Given the description of an element on the screen output the (x, y) to click on. 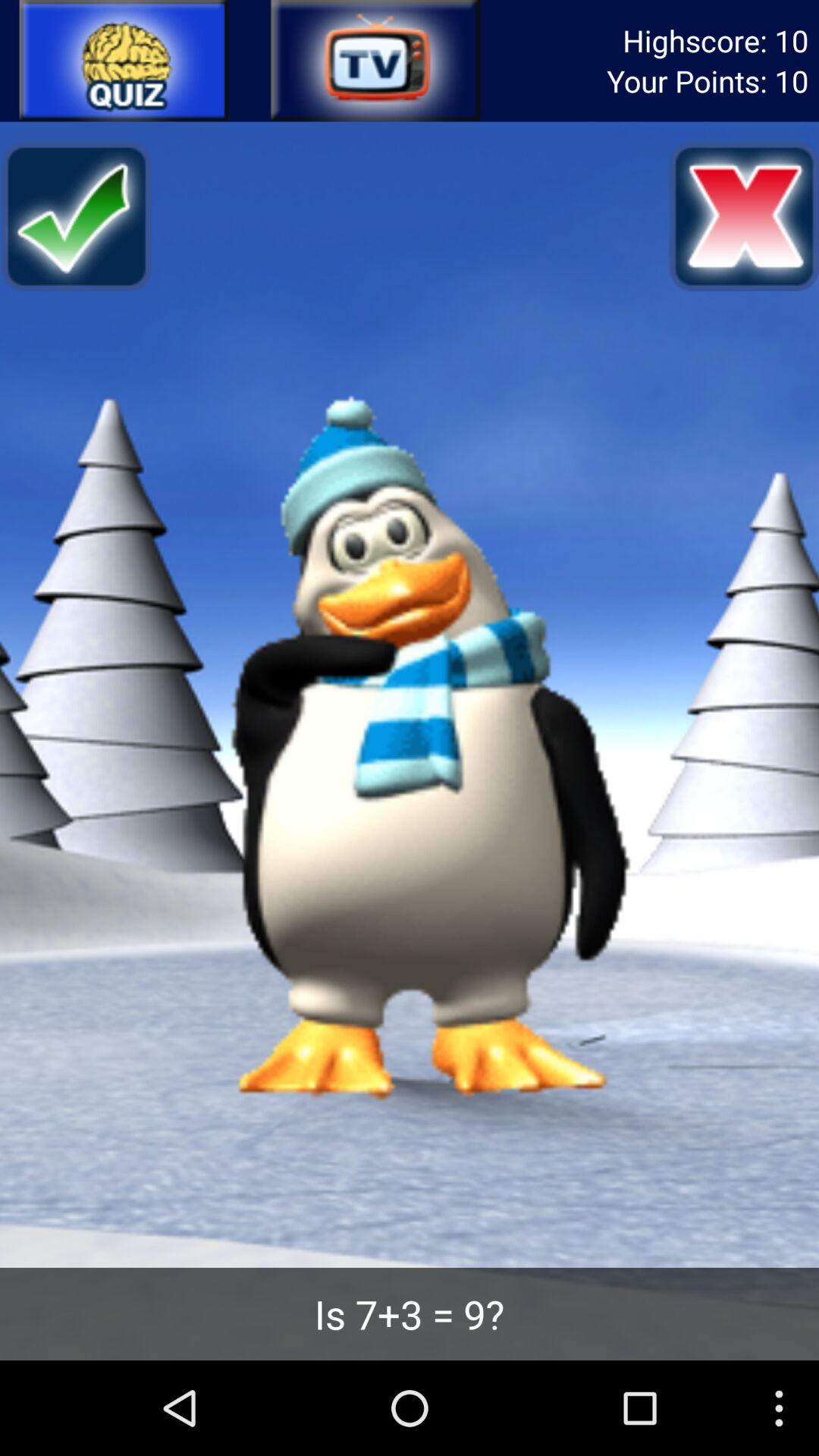
yes (75, 216)
